Given the description of an element on the screen output the (x, y) to click on. 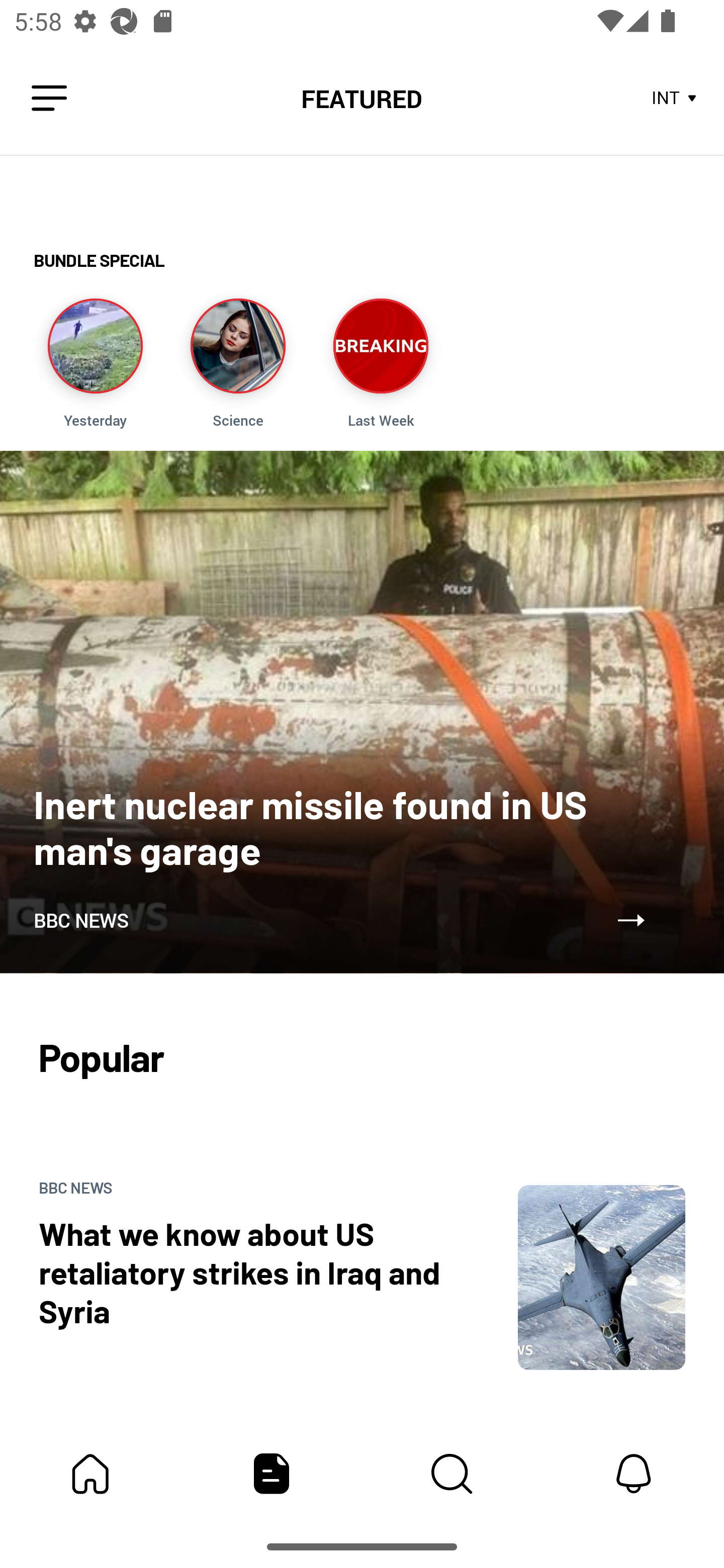
INT Store Area (674, 98)
Leading Icon (49, 98)
Story Image Yesterday (94, 363)
Story Image Science (237, 363)
Story Image Last Week (380, 363)
My Bundle (90, 1473)
Content Store (452, 1473)
Notifications (633, 1473)
